Given the description of an element on the screen output the (x, y) to click on. 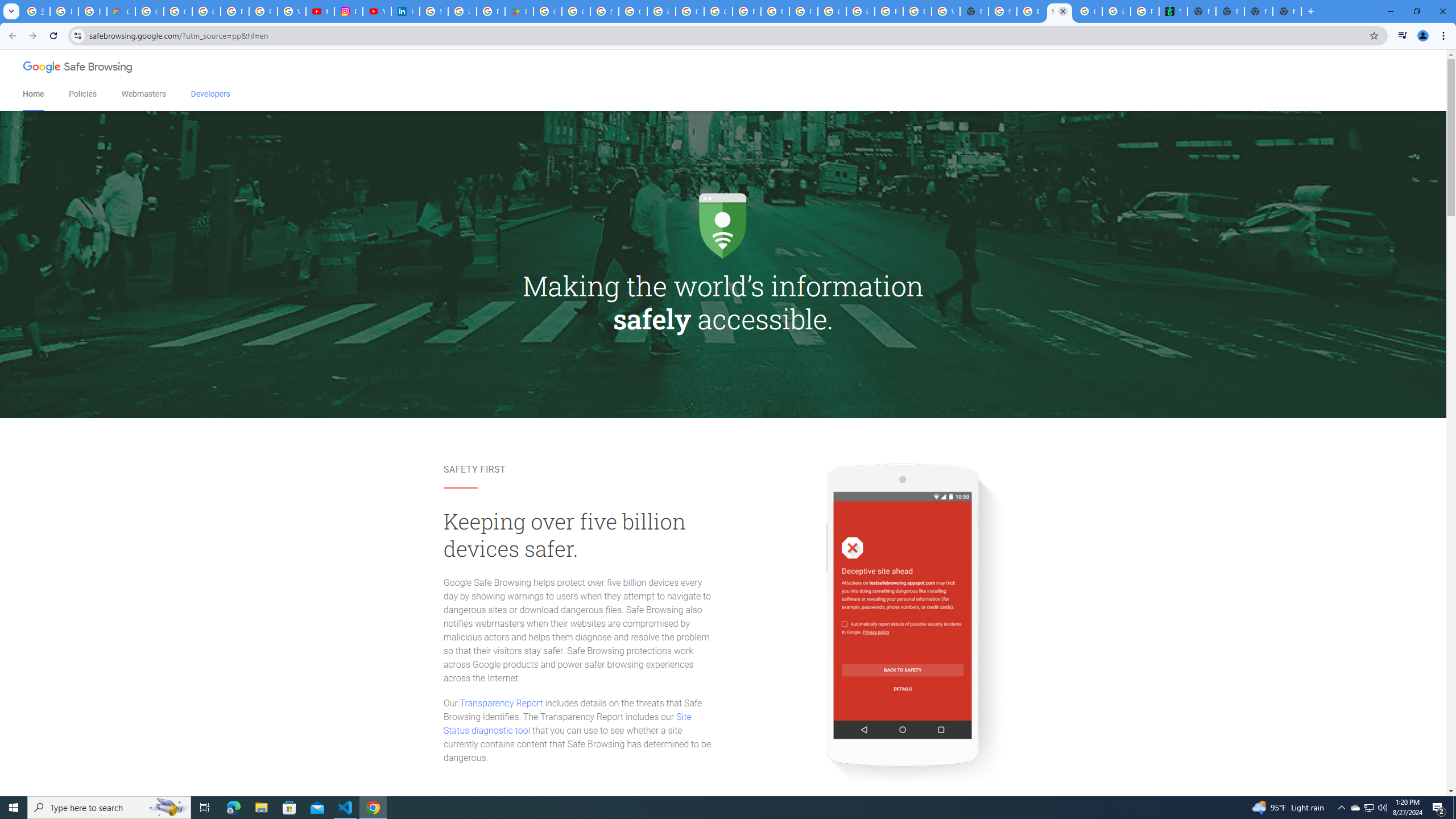
Last Shelter: Survival - Apps on Google Play (518, 11)
Google Workspace - Specific Terms (575, 11)
